Given the description of an element on the screen output the (x, y) to click on. 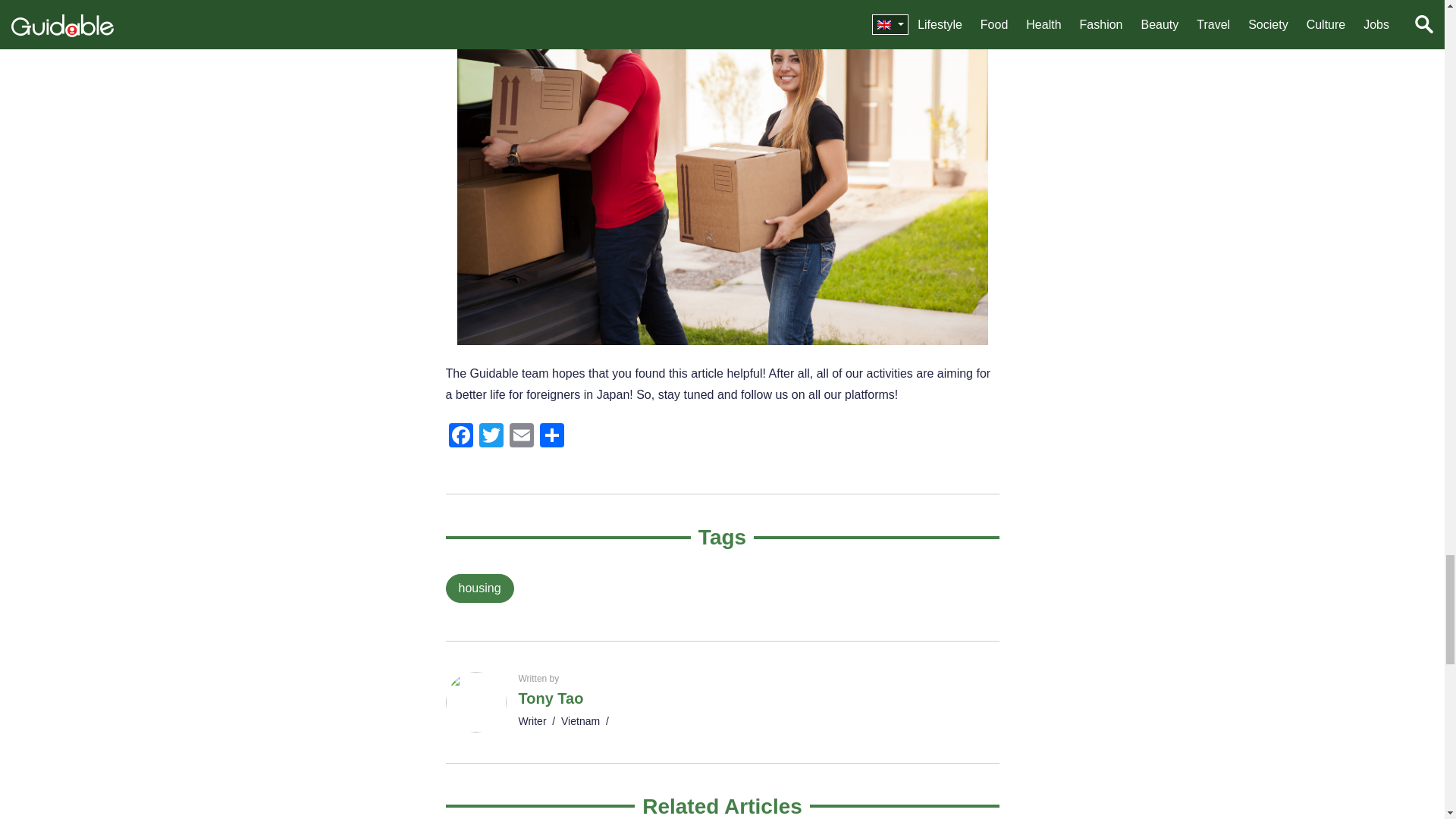
Posts by Tony Tao (550, 698)
Twitter (491, 437)
Facebook (460, 437)
Email (521, 437)
